Given the description of an element on the screen output the (x, y) to click on. 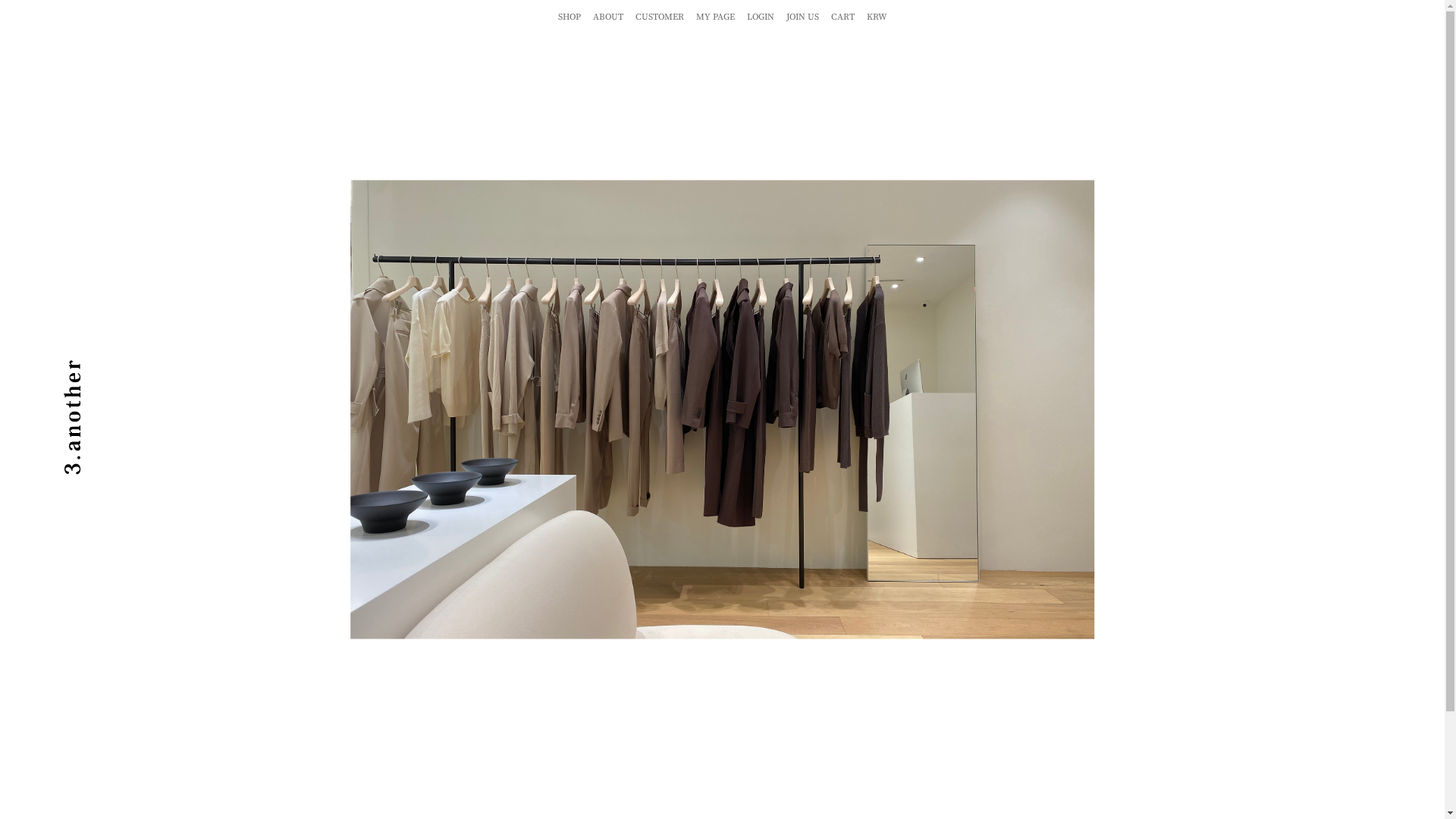
JOIN US Element type: text (801, 16)
SHOP Element type: text (569, 16)
CART Element type: text (842, 16)
ABOUT Element type: text (608, 16)
MY PAGE Element type: text (715, 16)
CUSTOMER Element type: text (659, 16)
KRW Element type: text (876, 16)
LOGIN Element type: text (759, 16)
